Given the description of an element on the screen output the (x, y) to click on. 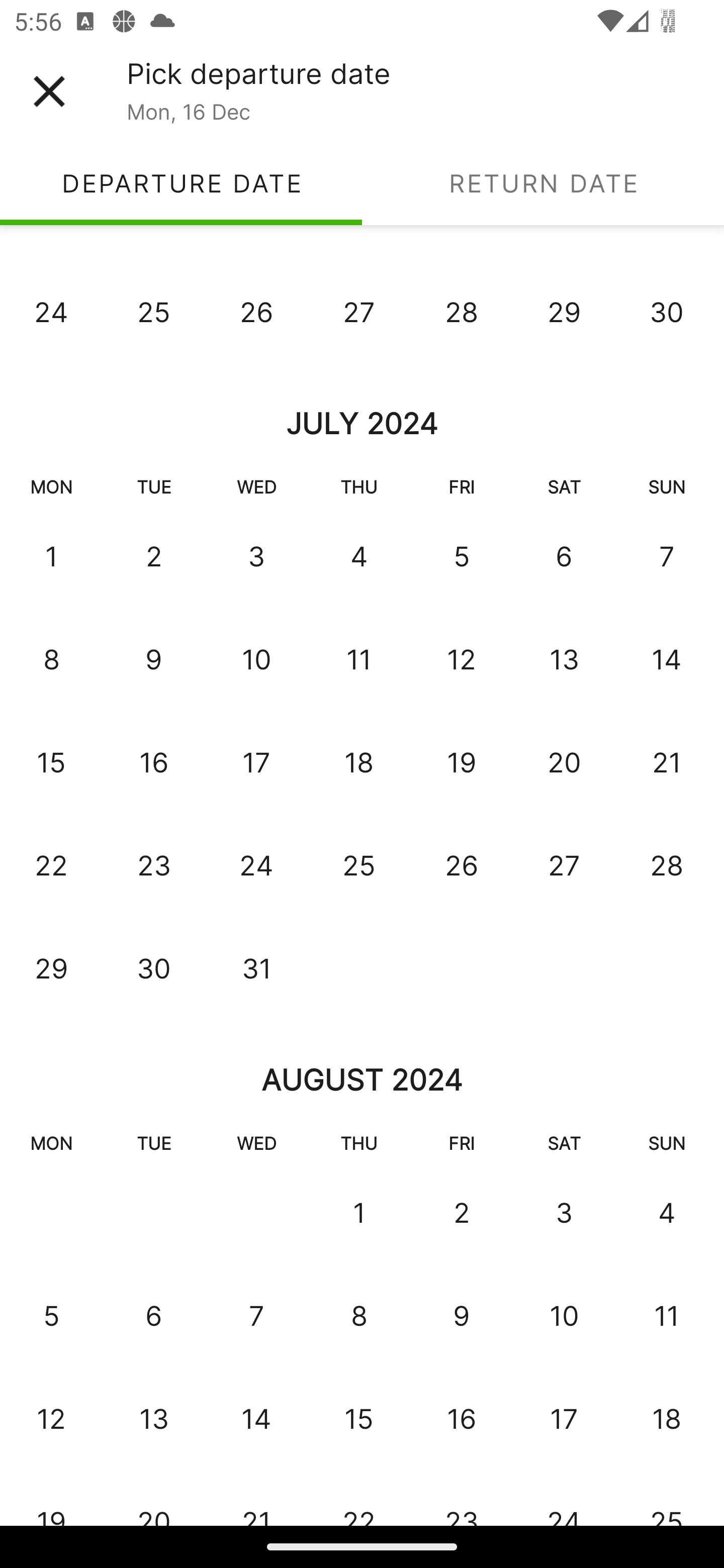
Return Date RETURN DATE (543, 183)
